Given the description of an element on the screen output the (x, y) to click on. 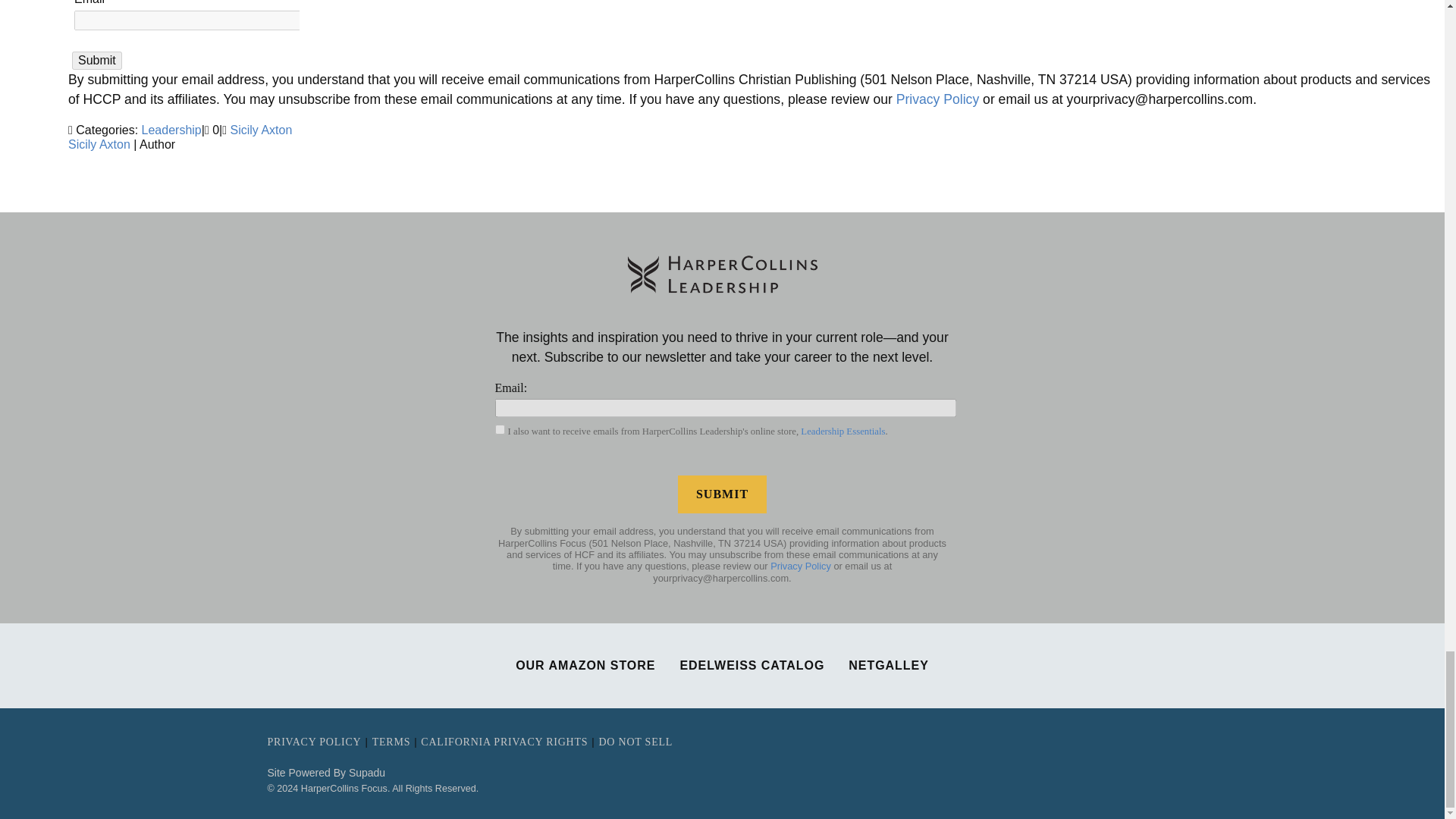
Submit (96, 60)
Yes (499, 429)
Submit (722, 494)
